Given the description of an element on the screen output the (x, y) to click on. 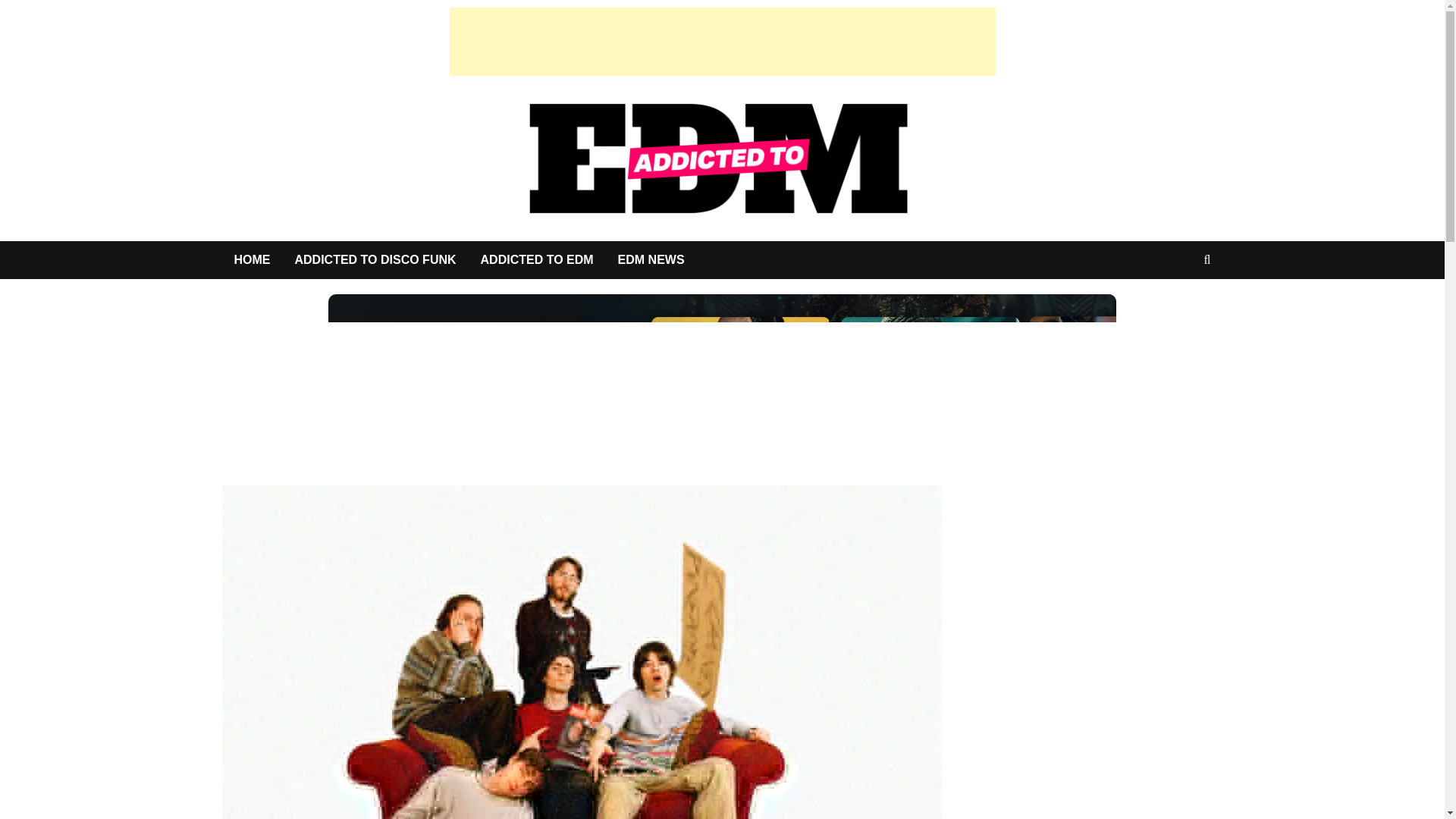
HOME (251, 259)
EDM NEWS (651, 259)
ADDICTED TO DISCO FUNK (374, 259)
ADDICTED TO EDM (536, 259)
